Given the description of an element on the screen output the (x, y) to click on. 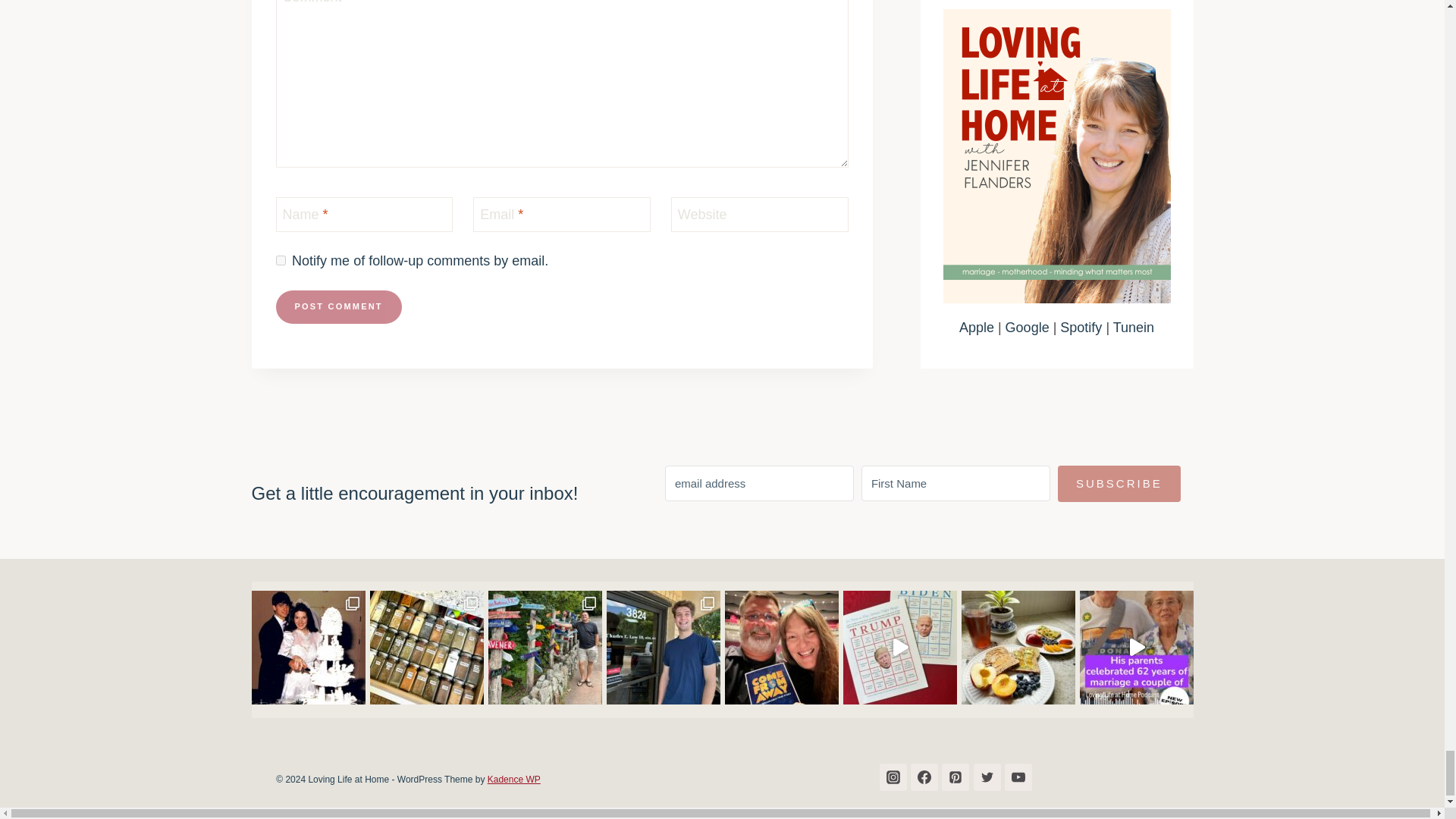
subscribe (280, 260)
Post Comment (338, 306)
